Given the description of an element on the screen output the (x, y) to click on. 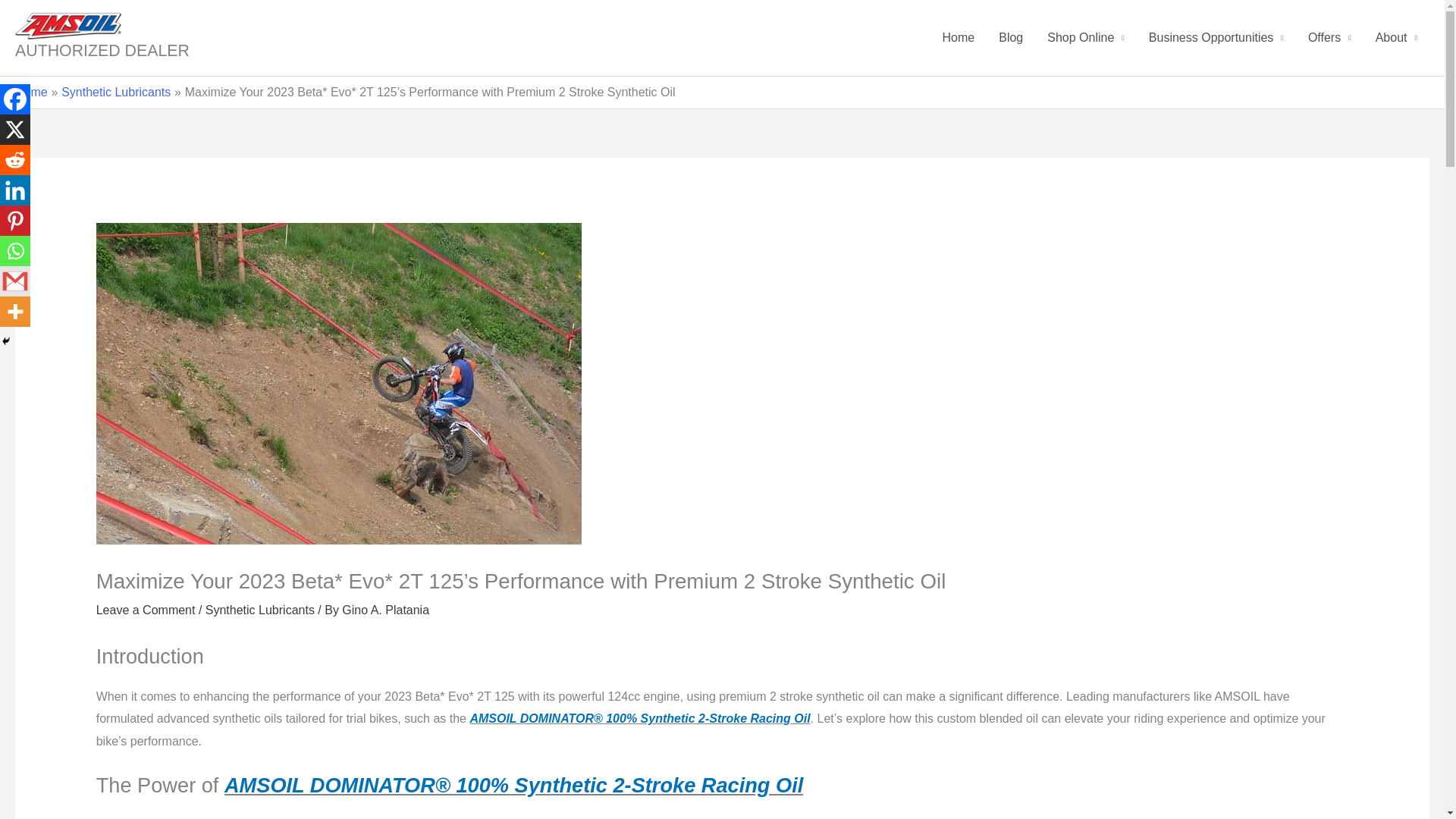
Linkedin (15, 190)
Synthetic Lubricants (115, 91)
View all posts by Gino A. Platania (385, 609)
Gino A. Platania (385, 609)
Business Opportunities (1216, 38)
Offers (1328, 38)
Shop Online (1086, 38)
Synthetic Lubricants (259, 609)
Reddit (15, 159)
Leave a Comment (145, 609)
